Given the description of an element on the screen output the (x, y) to click on. 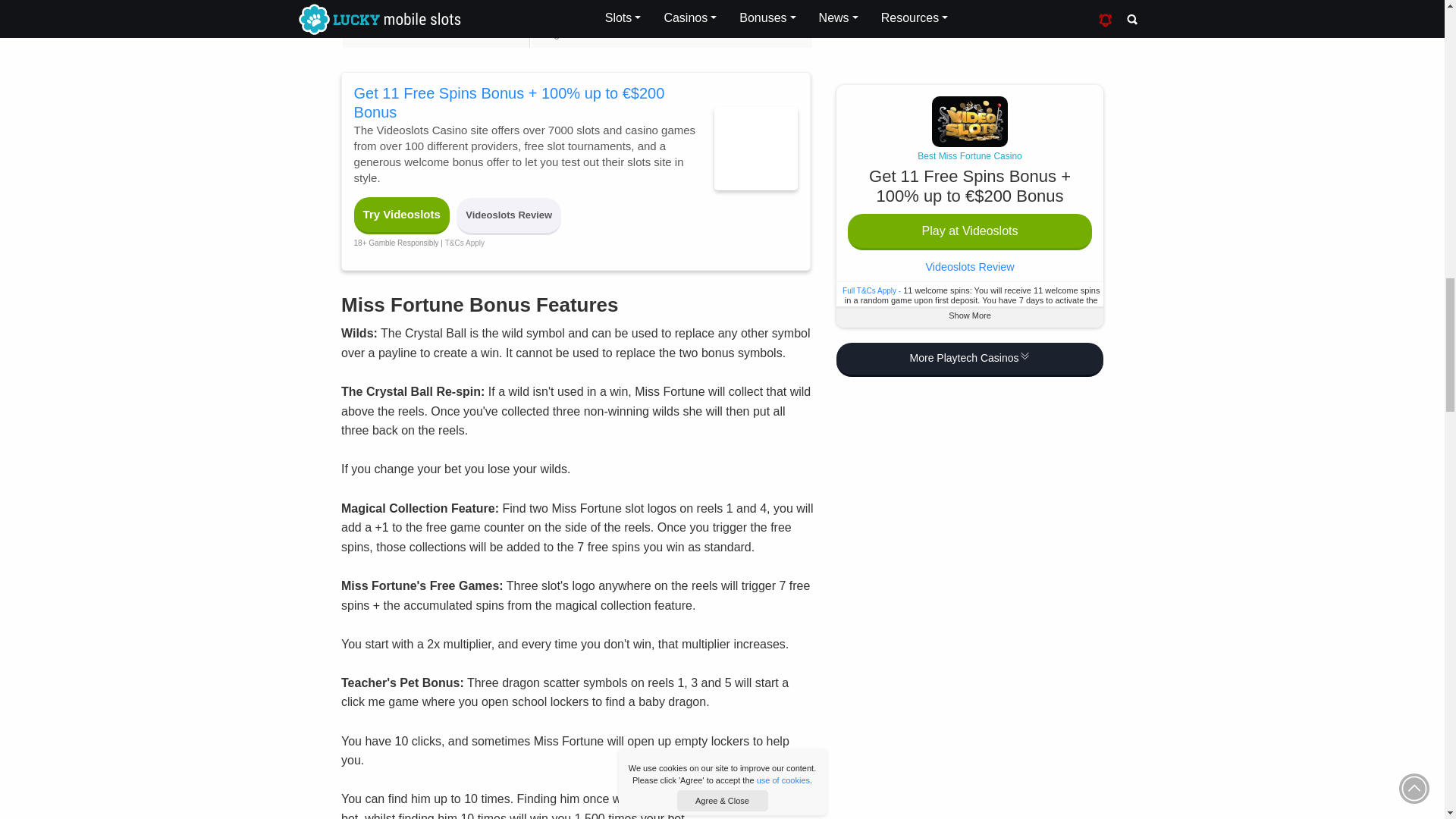
Casino Slots by Theme (379, 33)
